Given the description of an element on the screen output the (x, y) to click on. 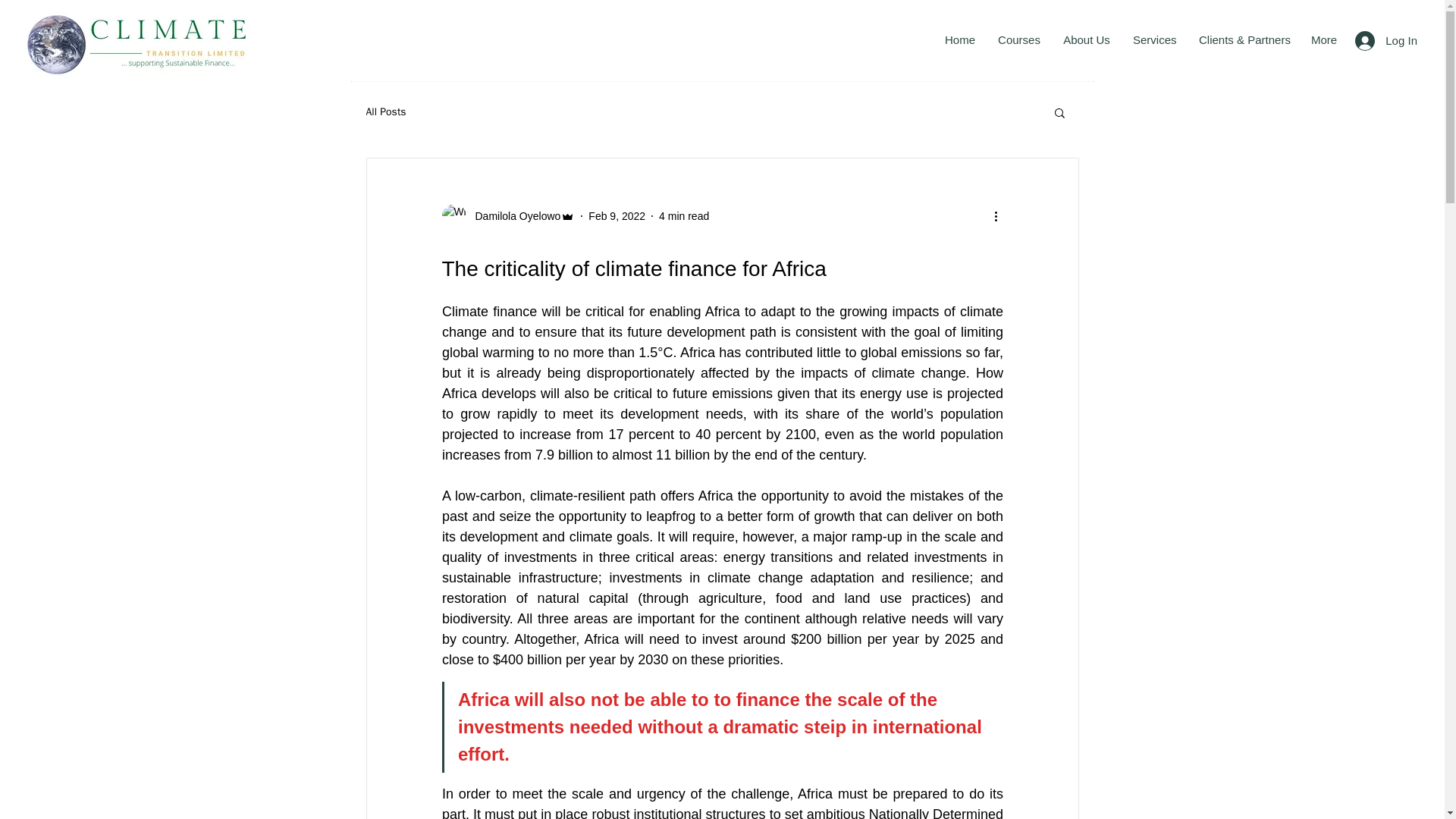
Log In (1385, 39)
All Posts (385, 111)
Damilola Oyelowo (508, 215)
Feb 9, 2022 (616, 215)
Courses (1019, 39)
4 min read (684, 215)
Services (1154, 39)
Home (960, 39)
Damilola Oyelowo (512, 215)
About Us (1086, 39)
